Given the description of an element on the screen output the (x, y) to click on. 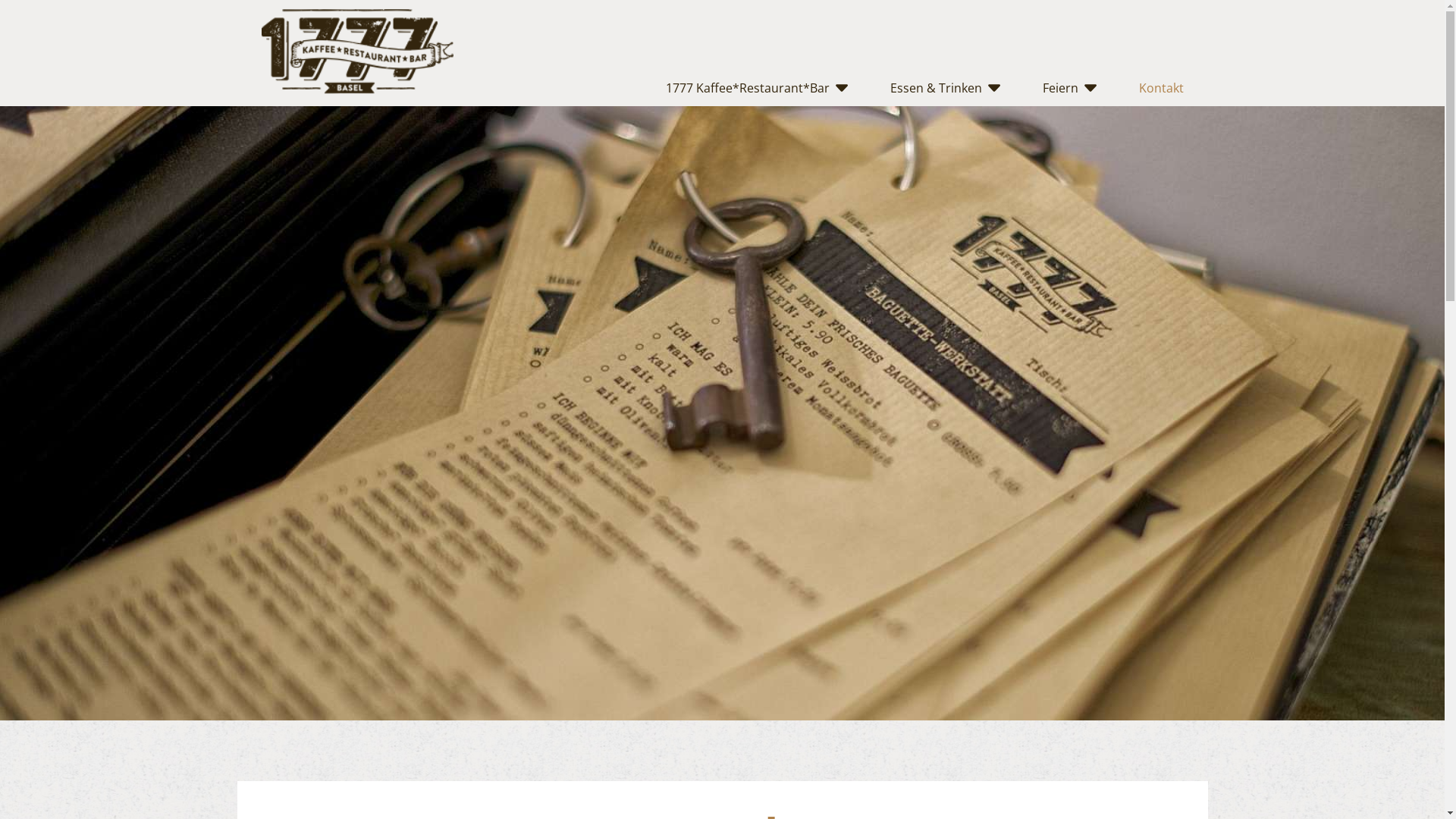
Feiern Element type: text (1059, 87)
Essen & Trinken Element type: text (936, 87)
1777 Kaffee*Restaurant*Bar Element type: text (747, 87)
Back to home Element type: hover (356, 51)
Kontakt Element type: text (1161, 87)
